Given the description of an element on the screen output the (x, y) to click on. 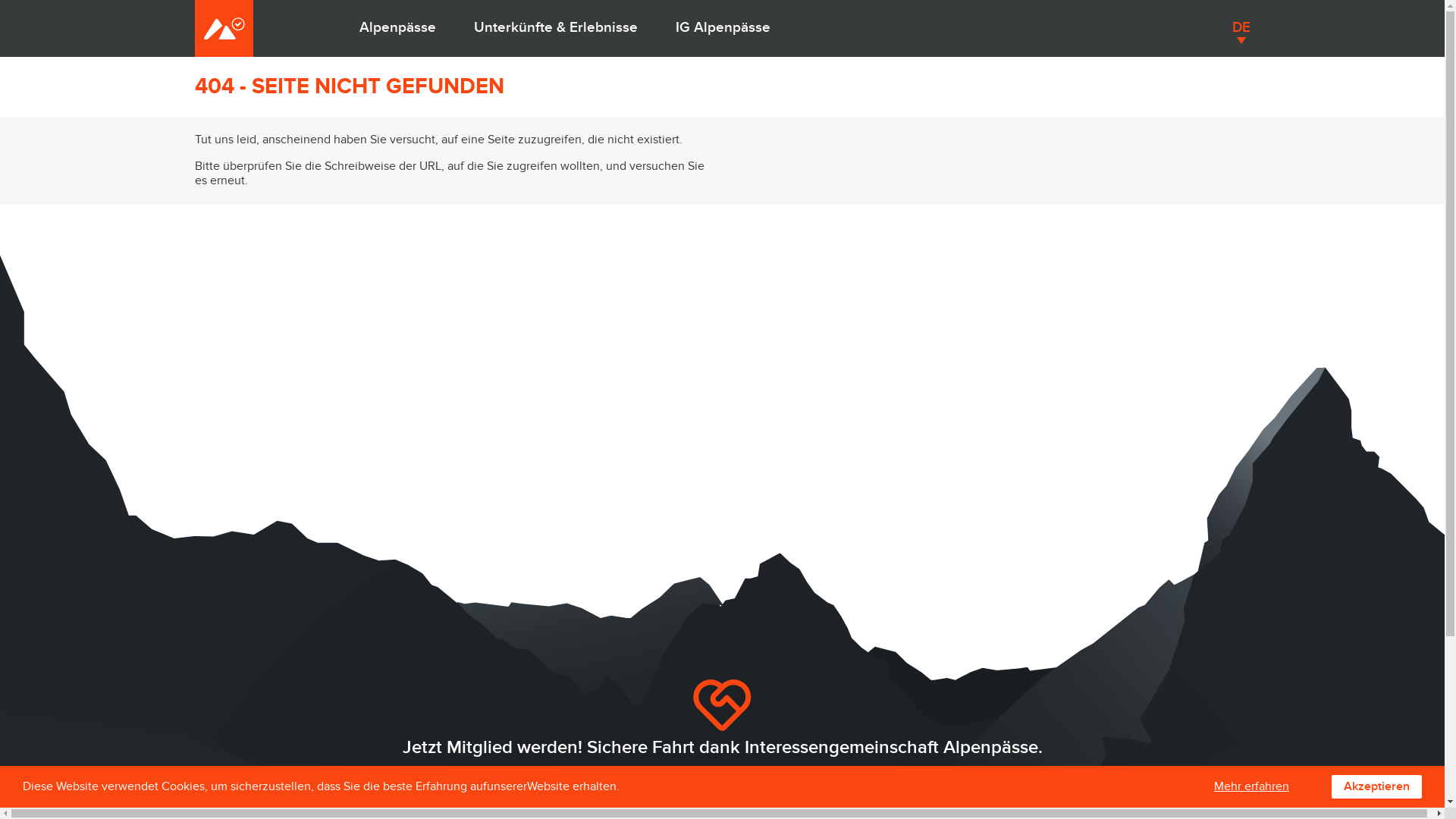
Akzeptieren Element type: text (1376, 786)
Mehr erfahren Element type: text (1251, 786)
